Given the description of an element on the screen output the (x, y) to click on. 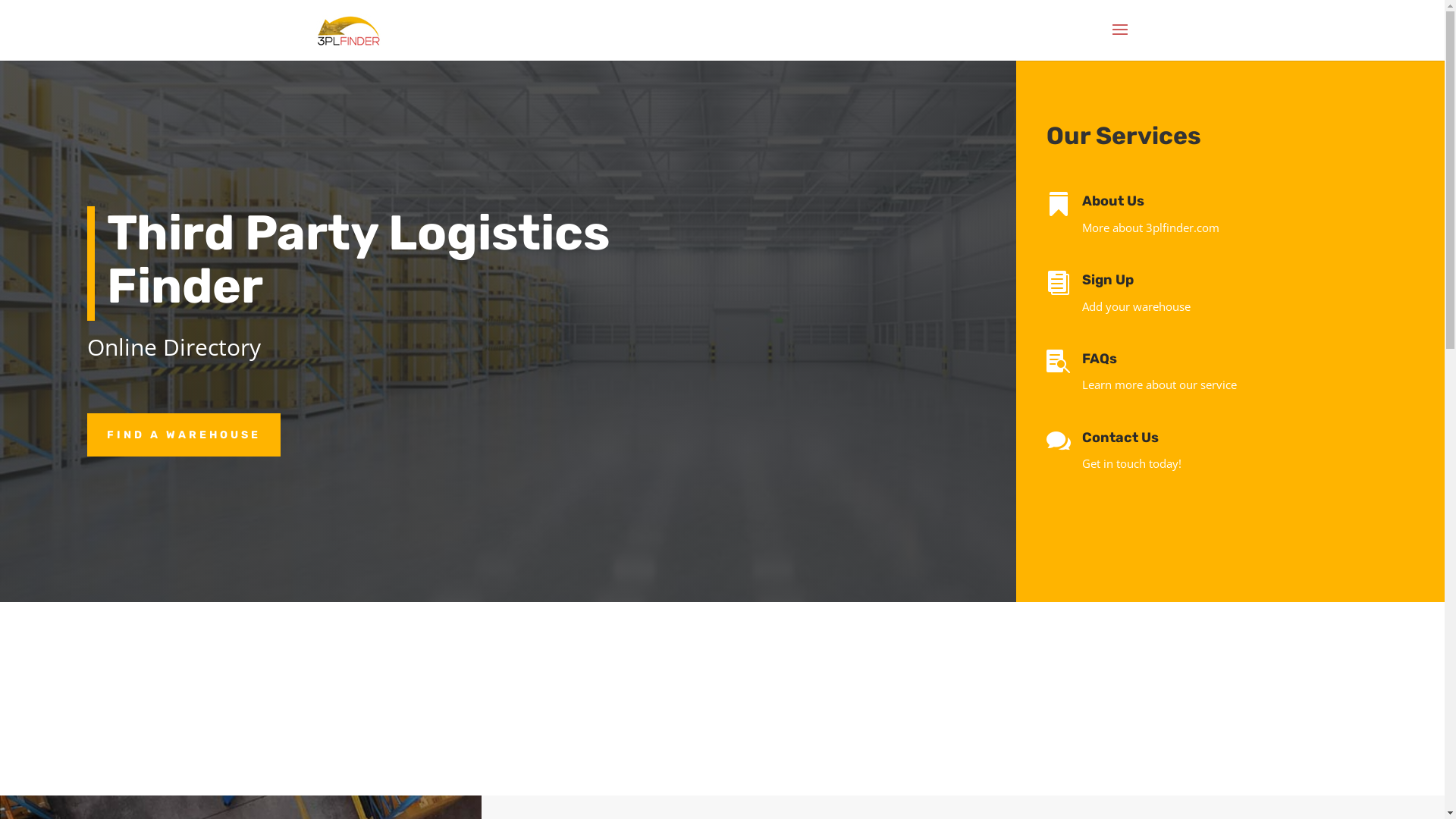
Sign Up Element type: text (1107, 279)
FIND A WAREHOUSE Element type: text (183, 434)
FAQs Element type: text (1099, 358)
Contact Us Element type: text (1120, 437)
About Us Element type: text (1113, 200)
